Given the description of an element on the screen output the (x, y) to click on. 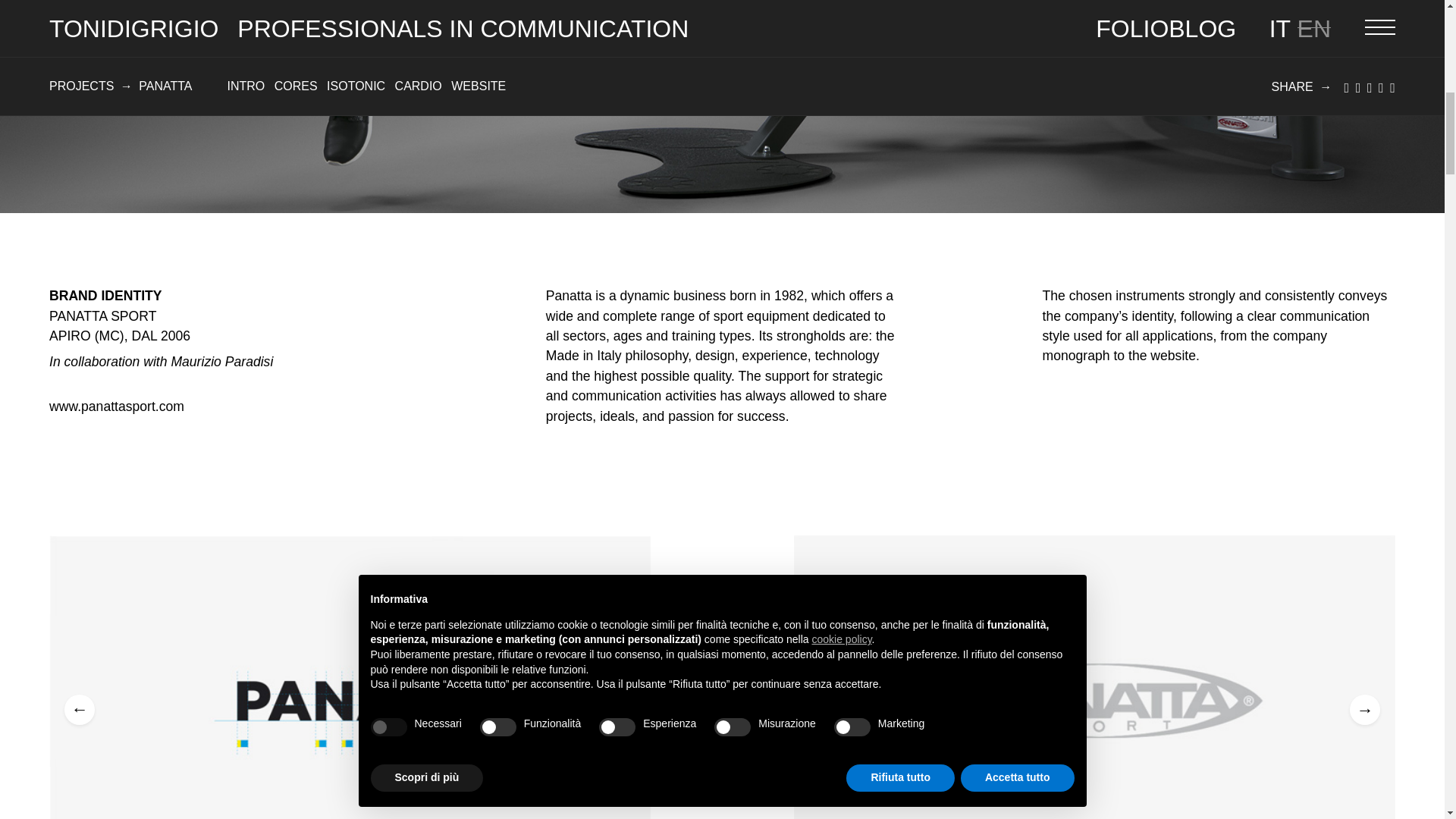
Next (619, 709)
www.panattasport.com (116, 406)
Next (1364, 709)
Previous (824, 709)
Previous (79, 709)
